Given the description of an element on the screen output the (x, y) to click on. 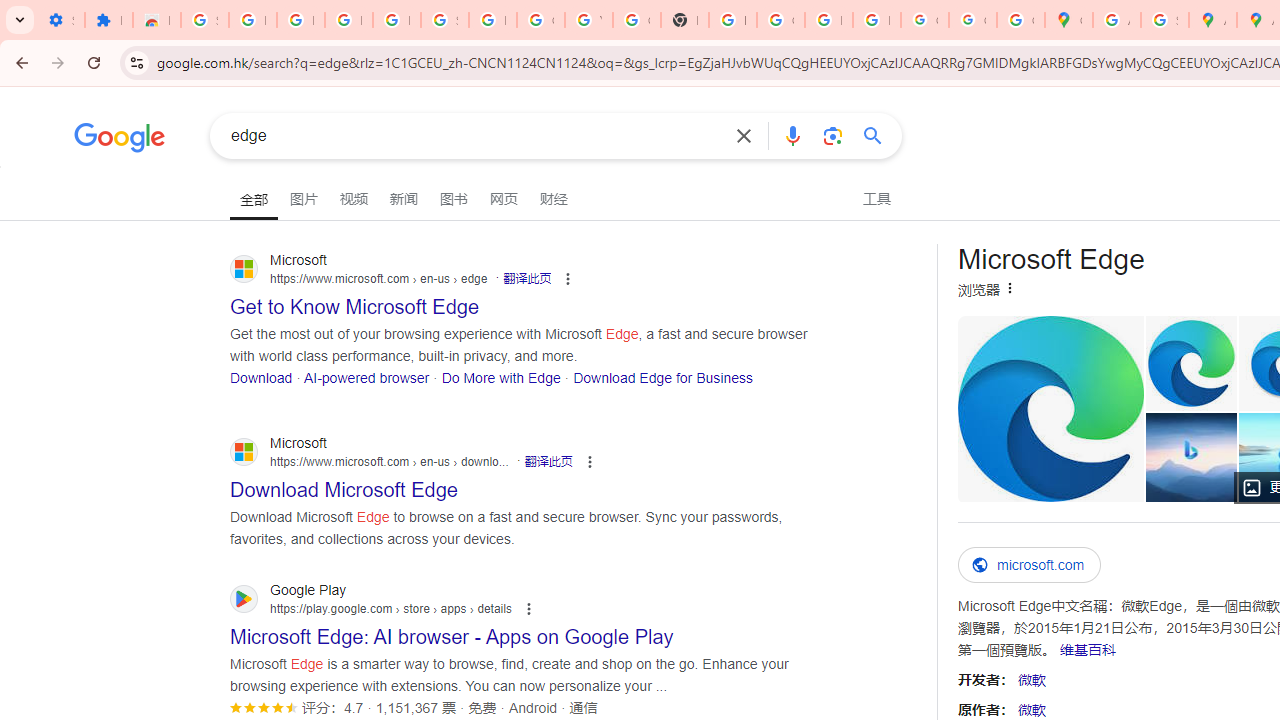
AI-powered browser (366, 376)
Download (261, 376)
